Given the description of an element on the screen output the (x, y) to click on. 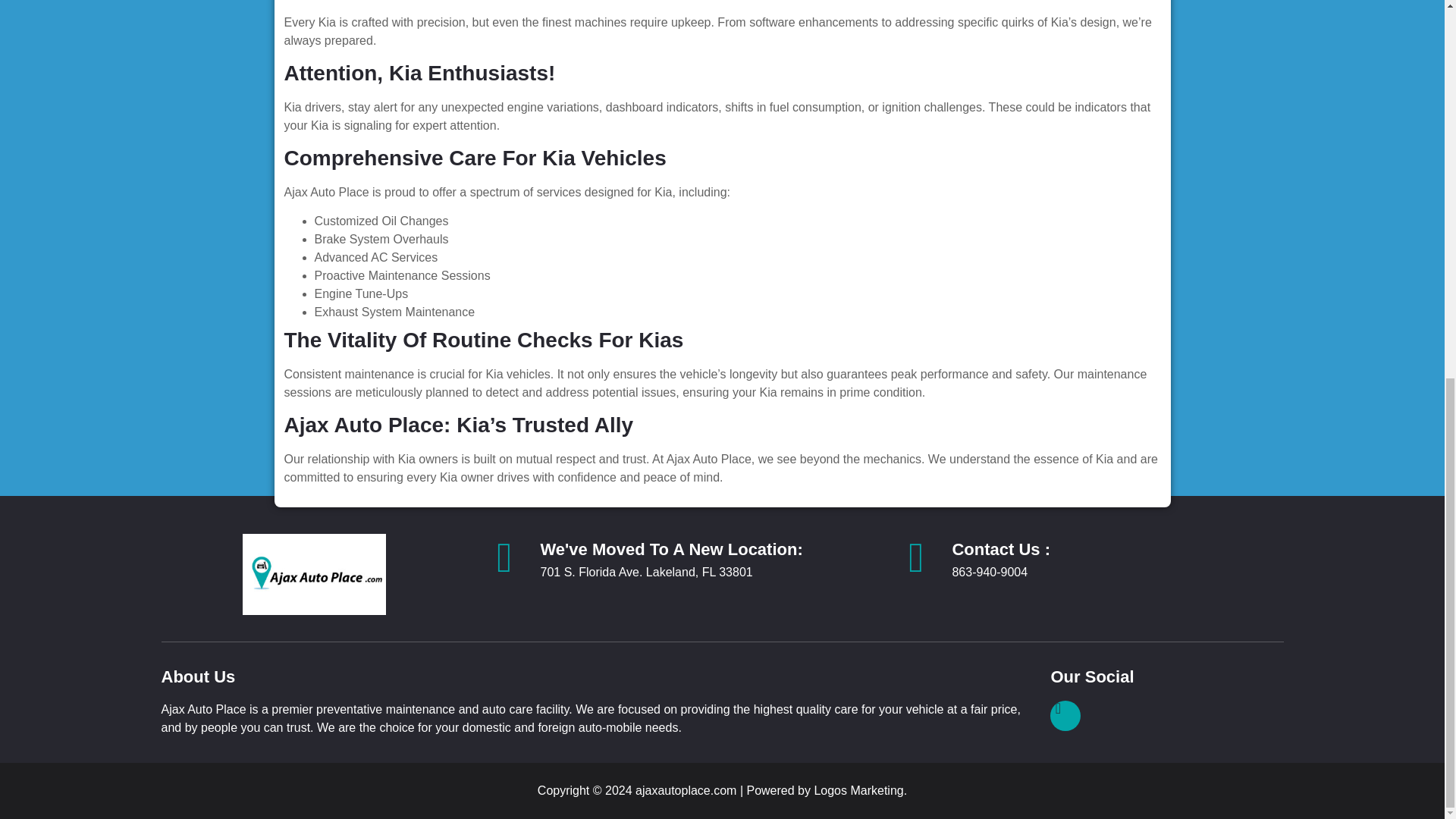
Contact Us : (1000, 548)
